Given the description of an element on the screen output the (x, y) to click on. 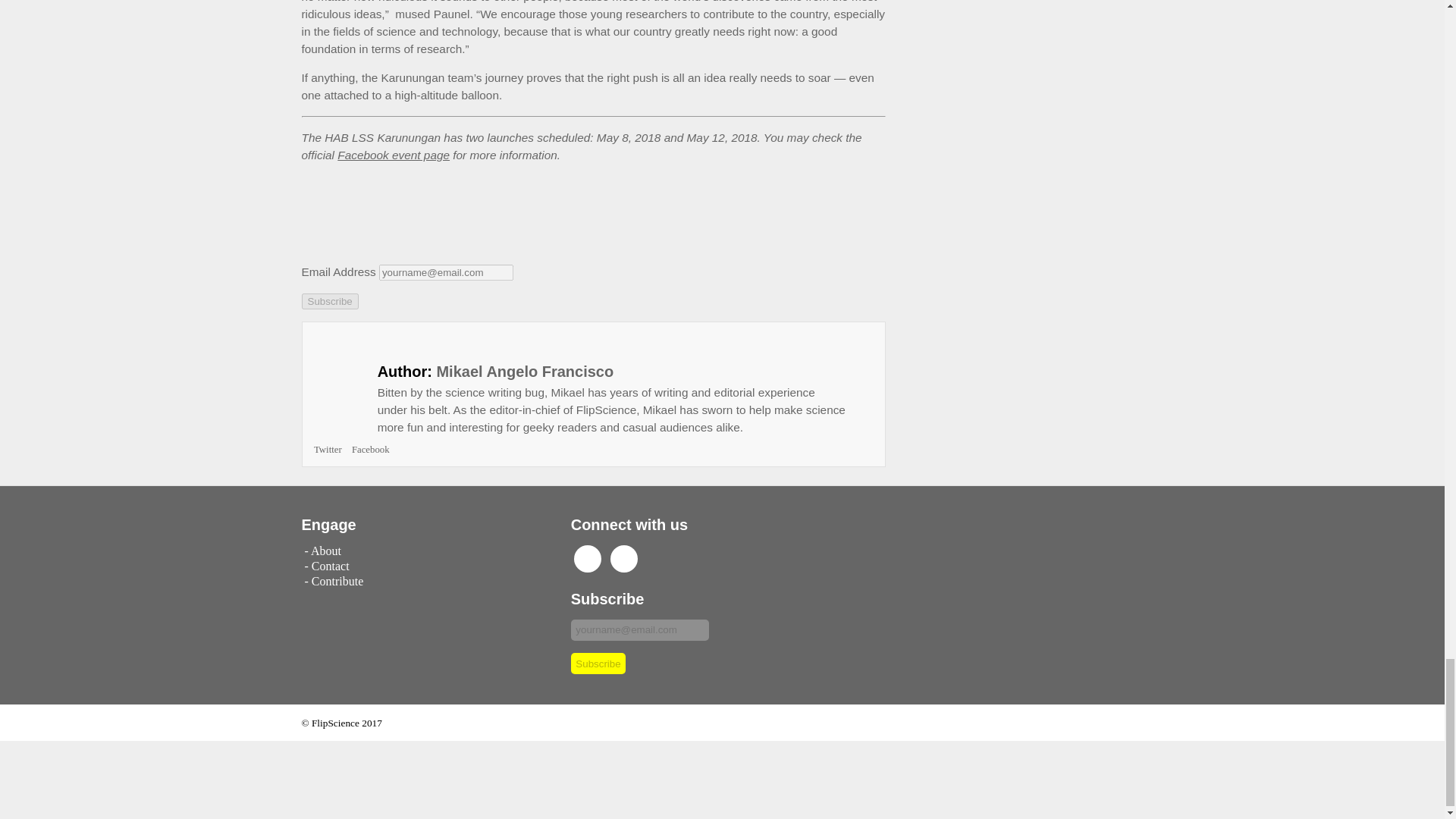
Twitter (328, 449)
Subscribe (329, 301)
Facebook (371, 449)
Subscribe (598, 663)
Subscribe (329, 301)
Facebook event page (393, 154)
Subscribe (598, 663)
Contribute (336, 581)
Contact (330, 565)
About (325, 550)
Mikael Angelo Francisco (523, 371)
